Given the description of an element on the screen output the (x, y) to click on. 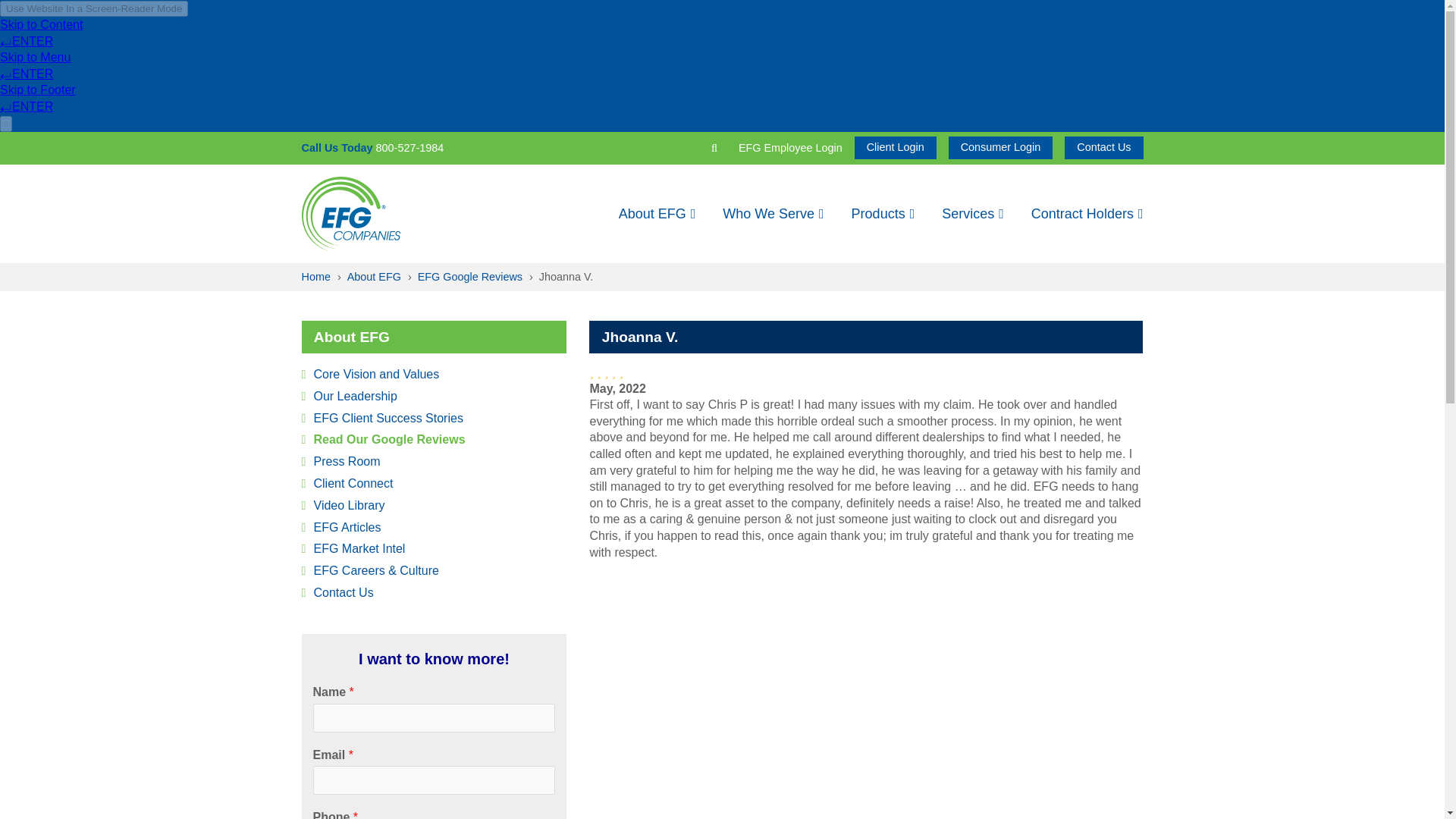
Read Our Google Reviews (676, 271)
Core Vision and Values (625, 271)
Call Us Today 800-527-1984 (372, 147)
EFG Market Intel (1013, 271)
Link to EFG client (895, 147)
Contact Us (1103, 147)
EFG Client Success Stories (662, 271)
About EFG (664, 213)
Search (752, 147)
Who We Serve (773, 213)
Video Library (826, 271)
Products (883, 213)
Profit Participation (965, 271)
For Auto Dealers (836, 271)
nav-col-start nav-col-4 (676, 271)
